Given the description of an element on the screen output the (x, y) to click on. 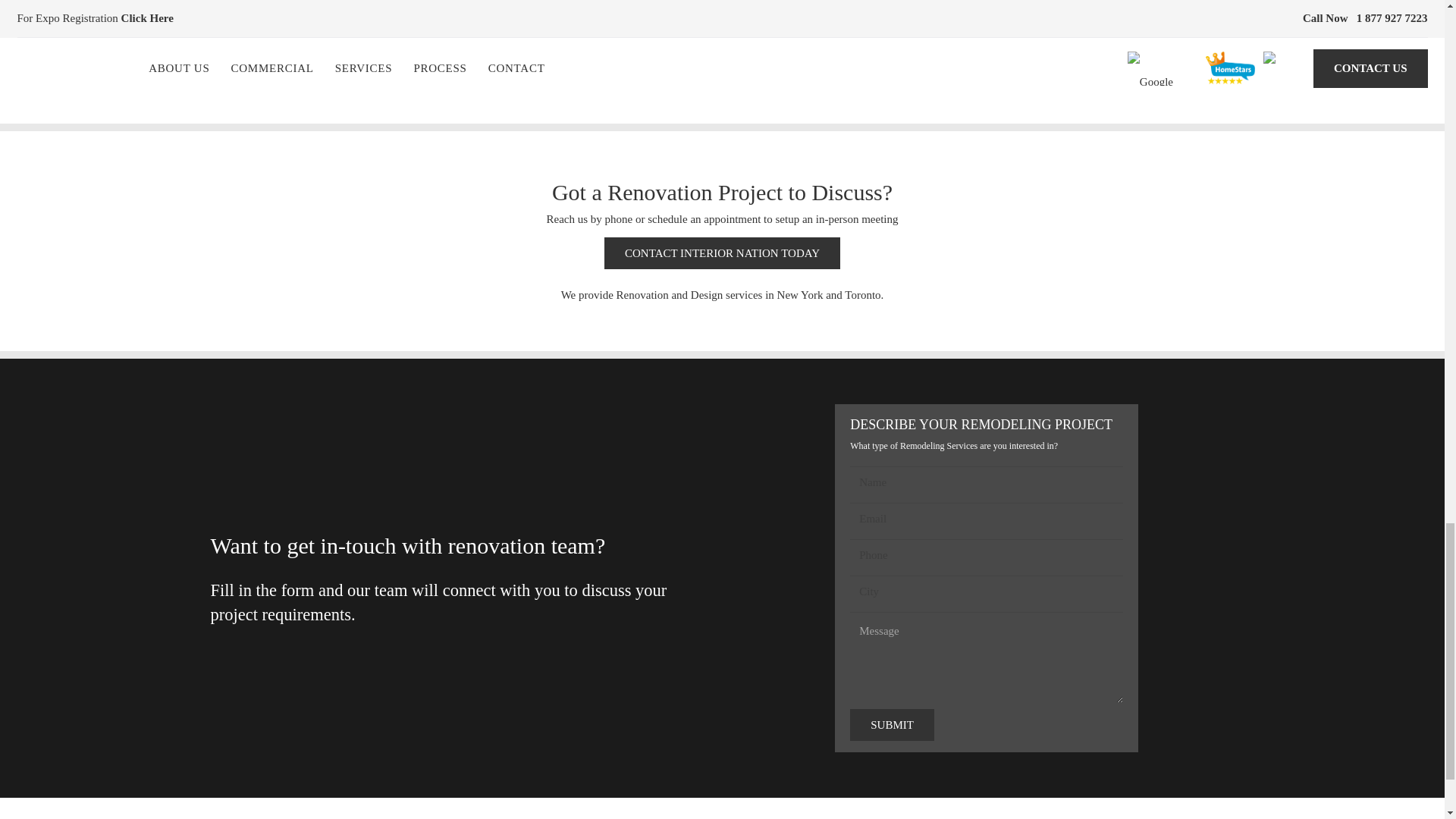
CONTACT INTERIOR NATION TODAY (722, 253)
Submit (892, 725)
Submit (892, 725)
